Given the description of an element on the screen output the (x, y) to click on. 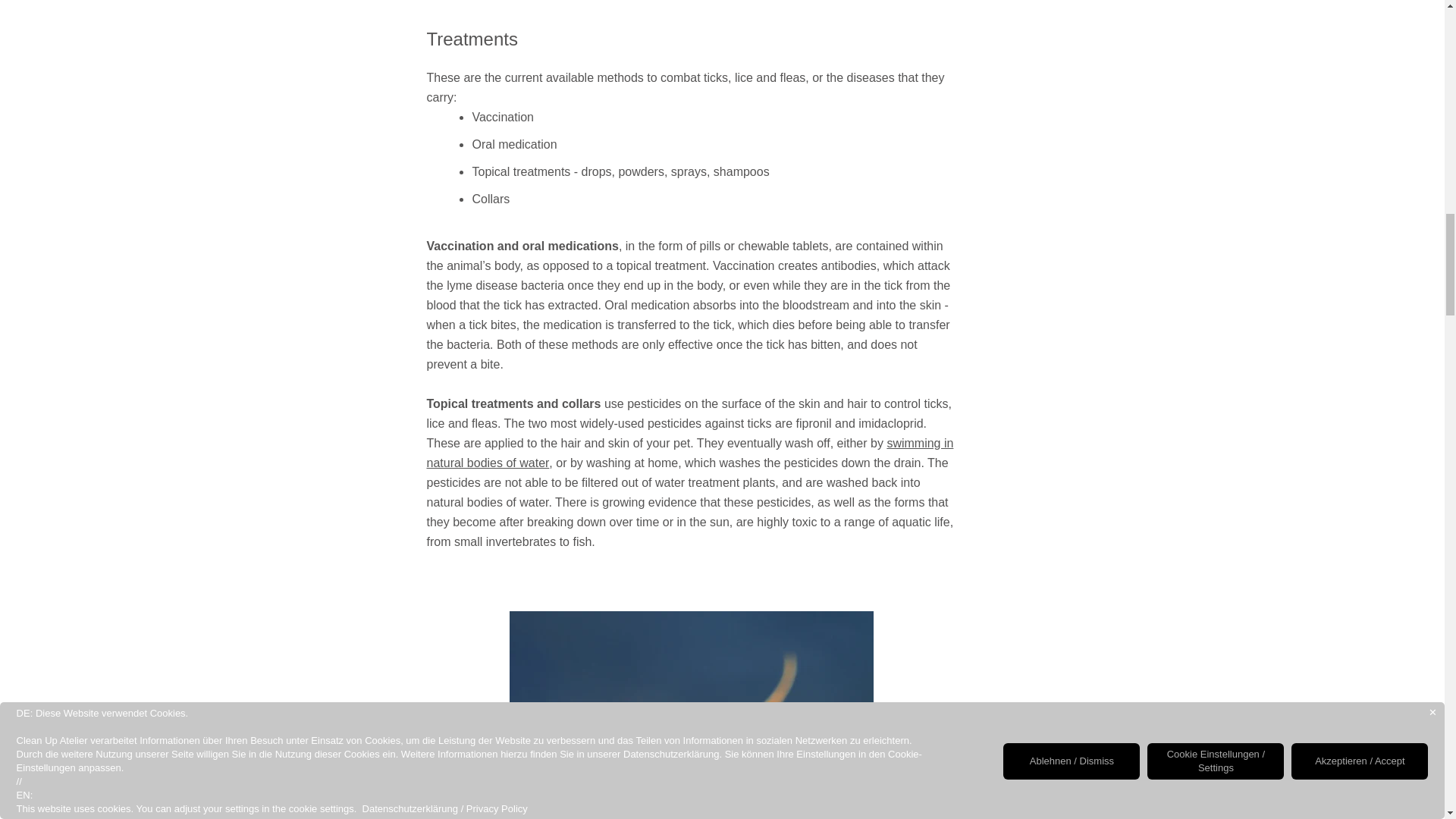
Zeckenschutz Pestizide (691, 714)
swimming in natural bodies of water (689, 452)
